Given the description of an element on the screen output the (x, y) to click on. 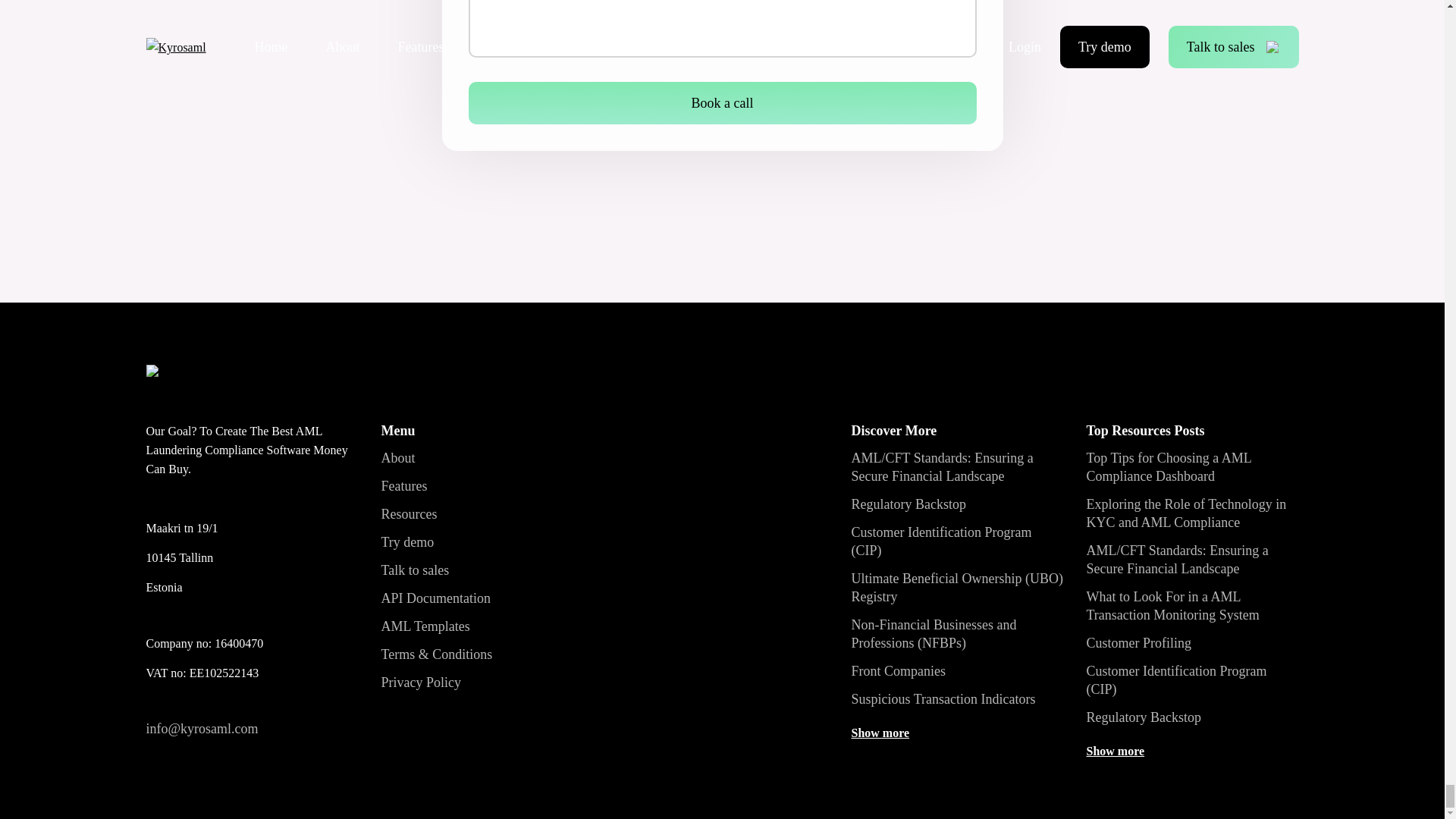
Front Companies (897, 670)
Suspicious Transaction Indicators (942, 699)
Regulatory Backstop (907, 504)
